Given the description of an element on the screen output the (x, y) to click on. 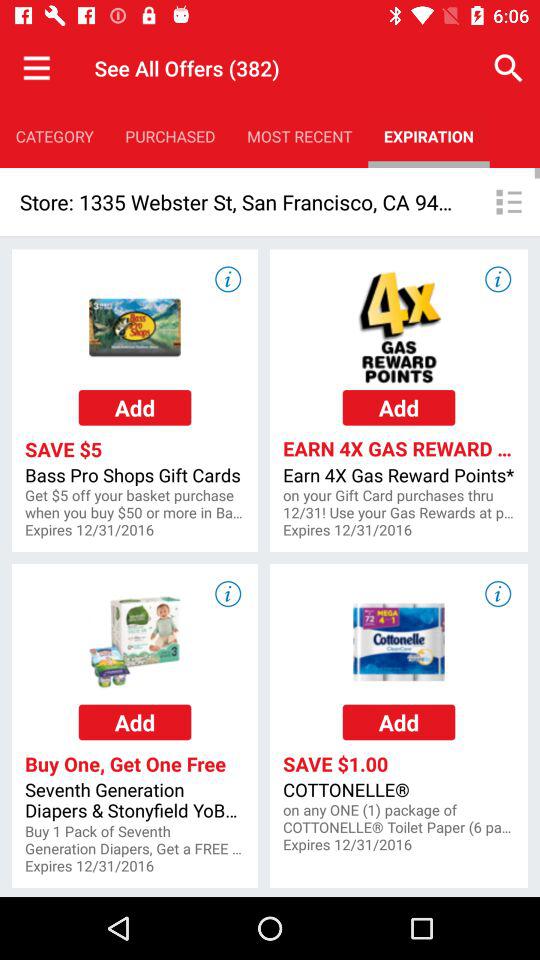
press item next to the store 1335 webster (508, 201)
